Given the description of an element on the screen output the (x, y) to click on. 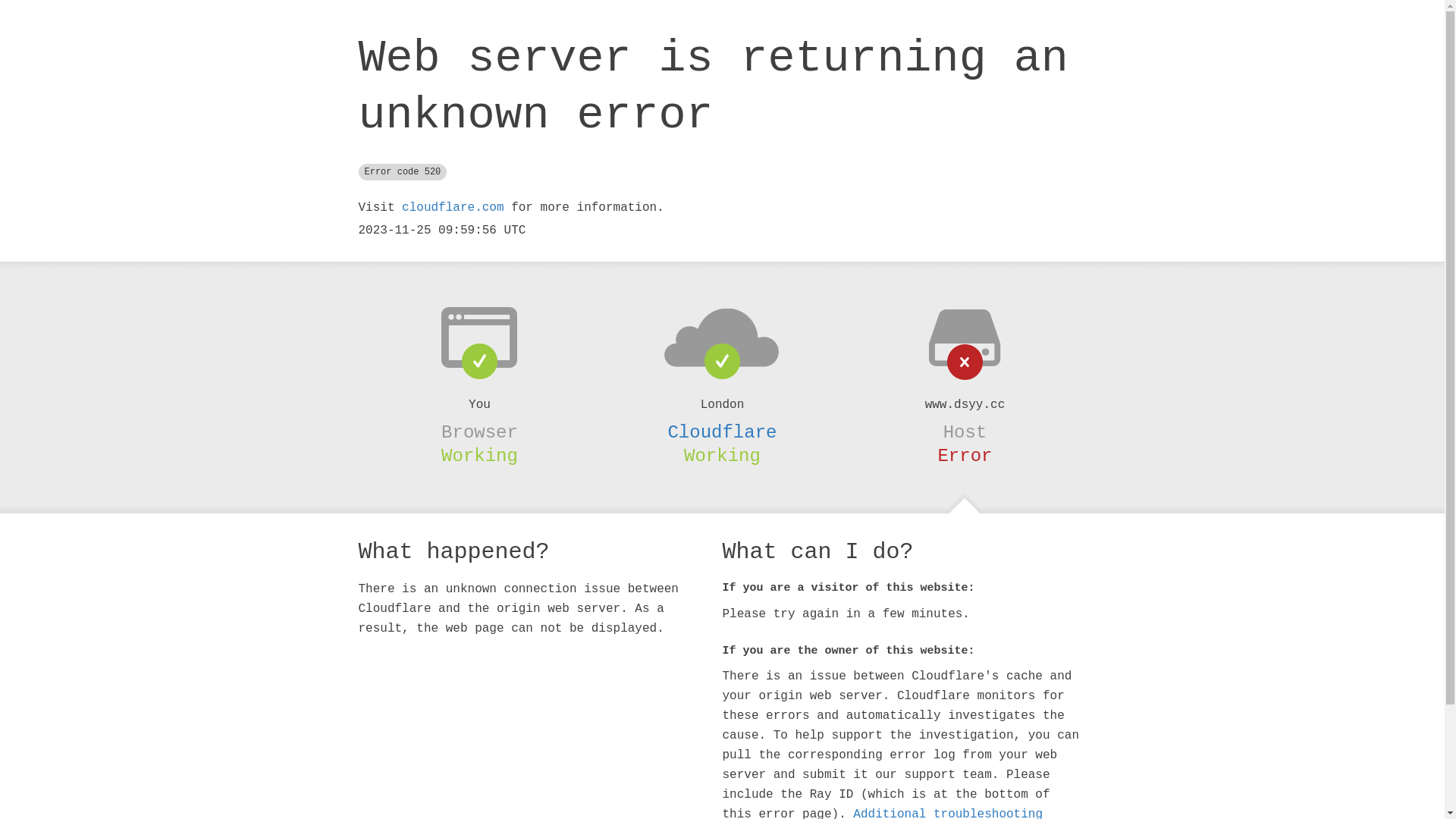
Cloudflare Element type: text (721, 432)
cloudflare.com Element type: text (452, 207)
